Given the description of an element on the screen output the (x, y) to click on. 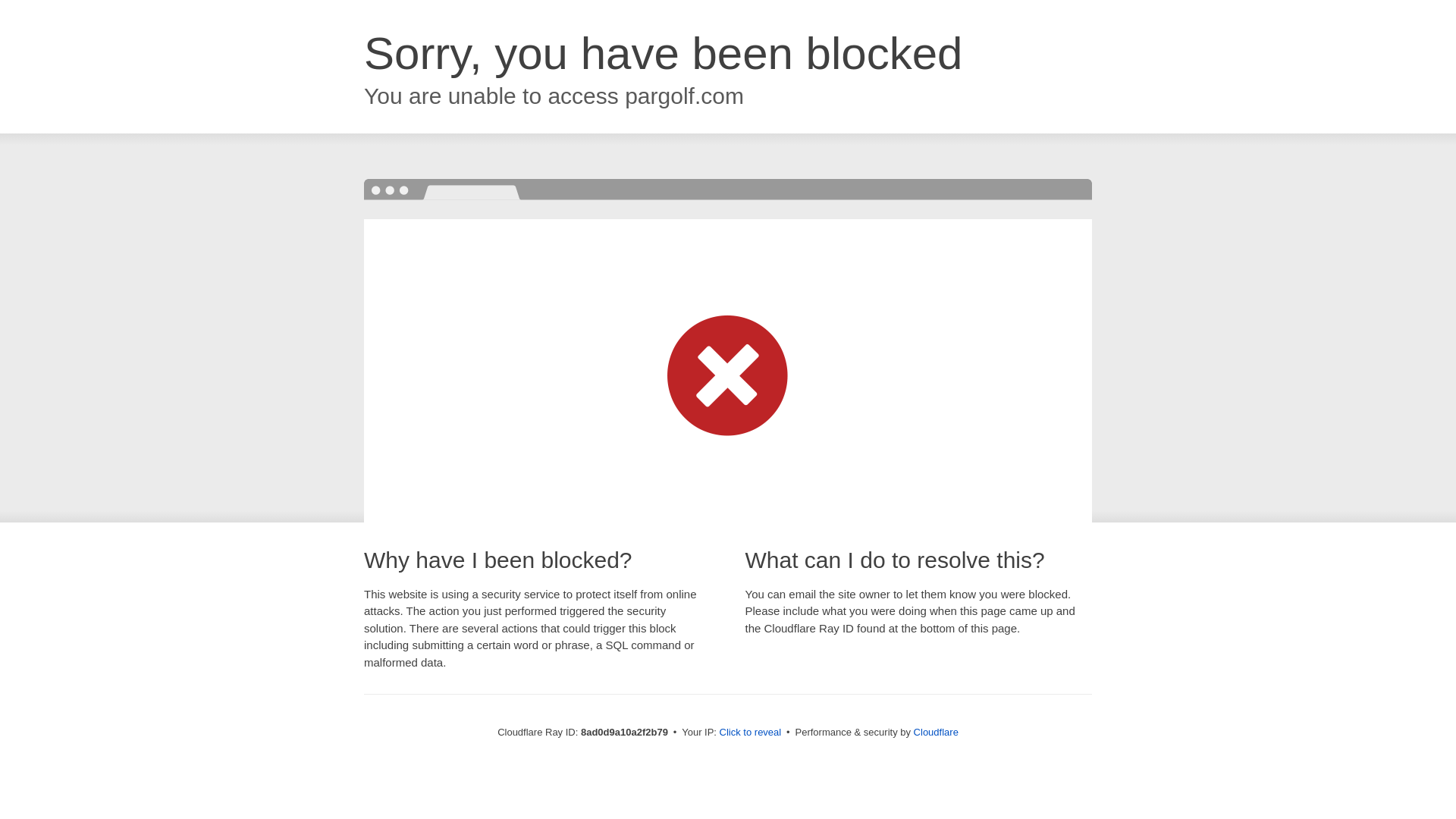
Cloudflare (936, 731)
Click to reveal (750, 732)
